Given the description of an element on the screen output the (x, y) to click on. 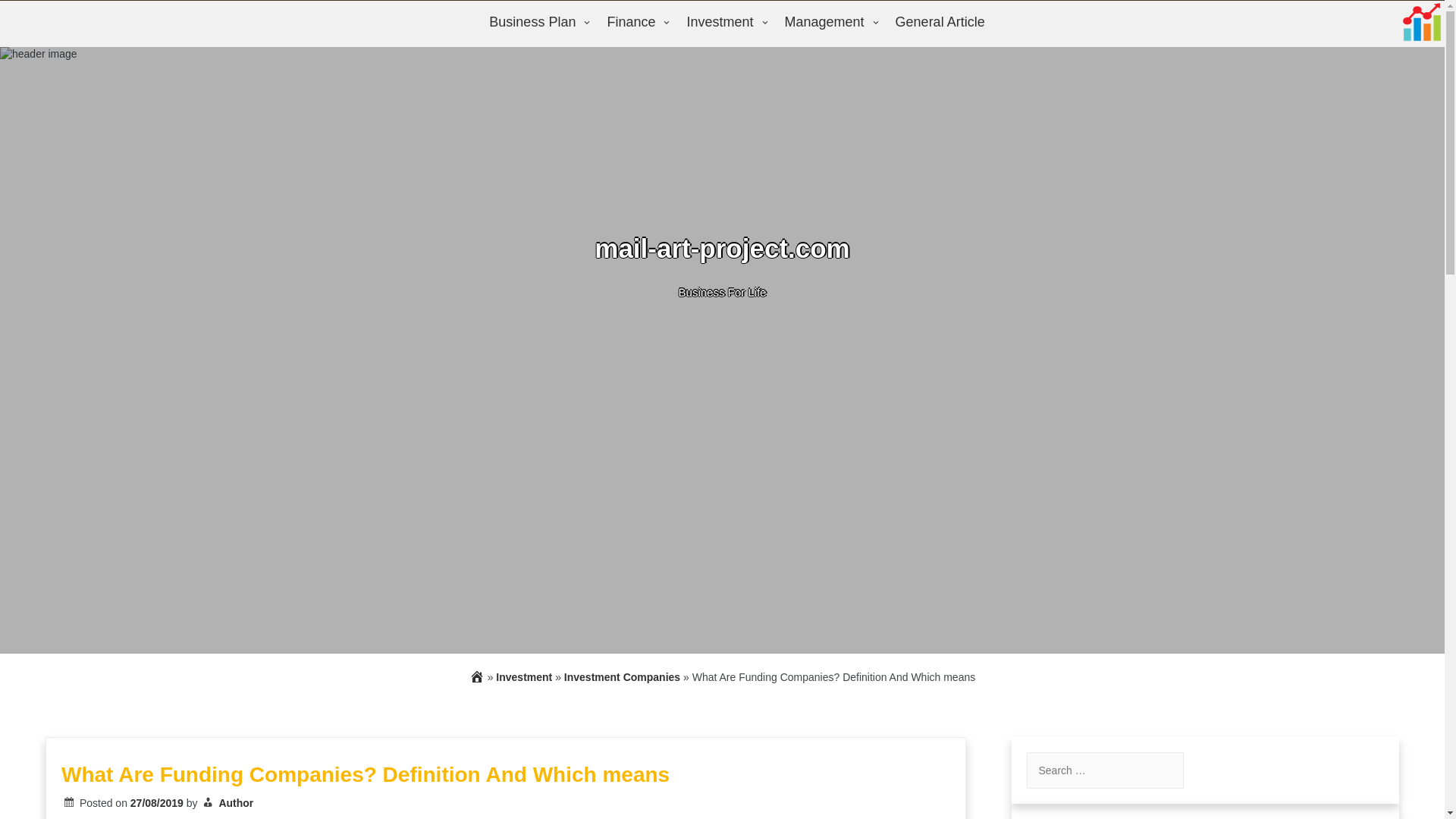
Investment Companies (621, 676)
Finance (635, 22)
Investment (724, 22)
Business Plan (536, 22)
Investment (523, 676)
Management (828, 22)
General Article (940, 22)
Author (235, 802)
mail-art-project.com (721, 247)
